Given the description of an element on the screen output the (x, y) to click on. 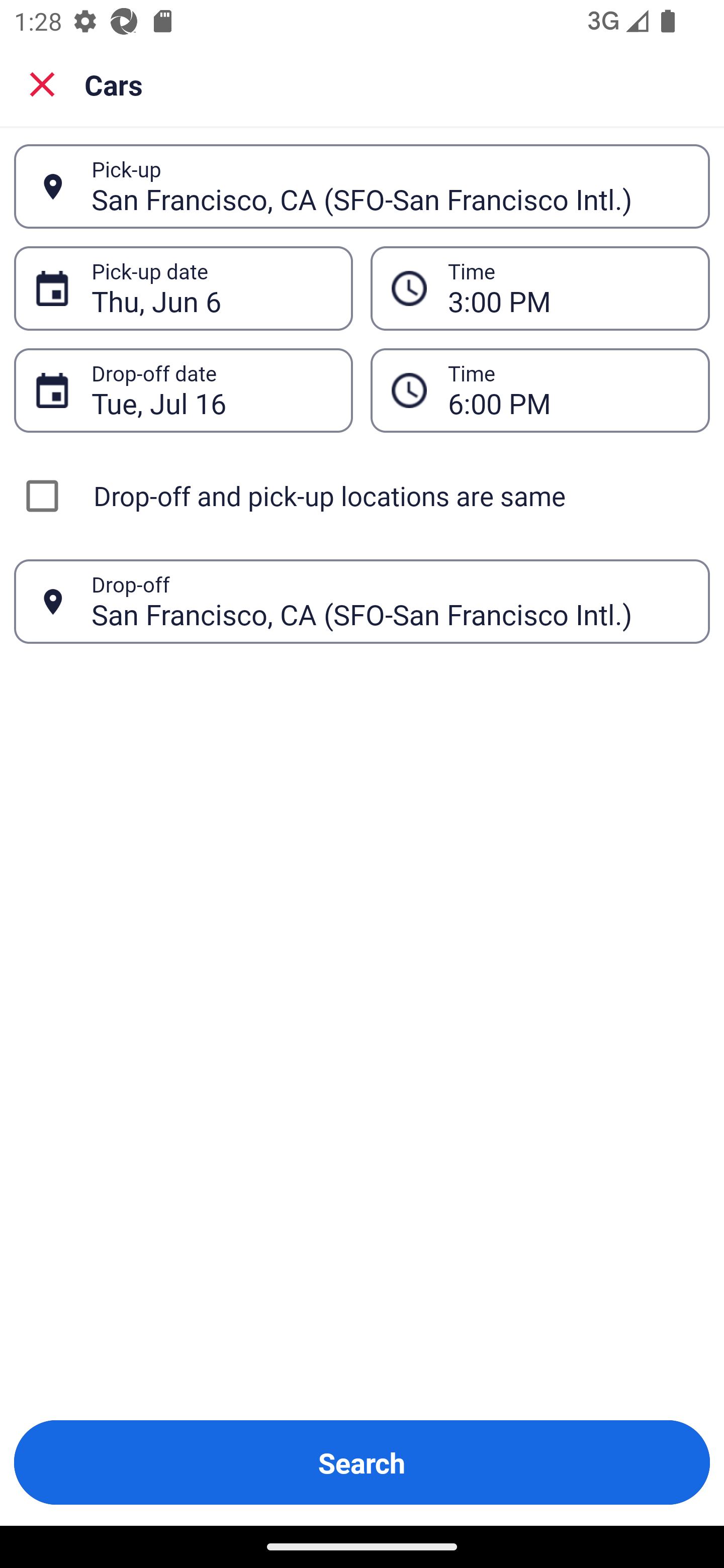
Close search screen (42, 84)
San Francisco, CA (SFO-San Francisco Intl.) (389, 186)
Thu, Jun 6 (211, 288)
3:00 PM (568, 288)
Tue, Jul 16 (211, 390)
6:00 PM (568, 390)
Drop-off and pick-up locations are same (361, 495)
San Francisco, CA (SFO-San Francisco Intl.) (389, 601)
Search Button Search (361, 1462)
